Given the description of an element on the screen output the (x, y) to click on. 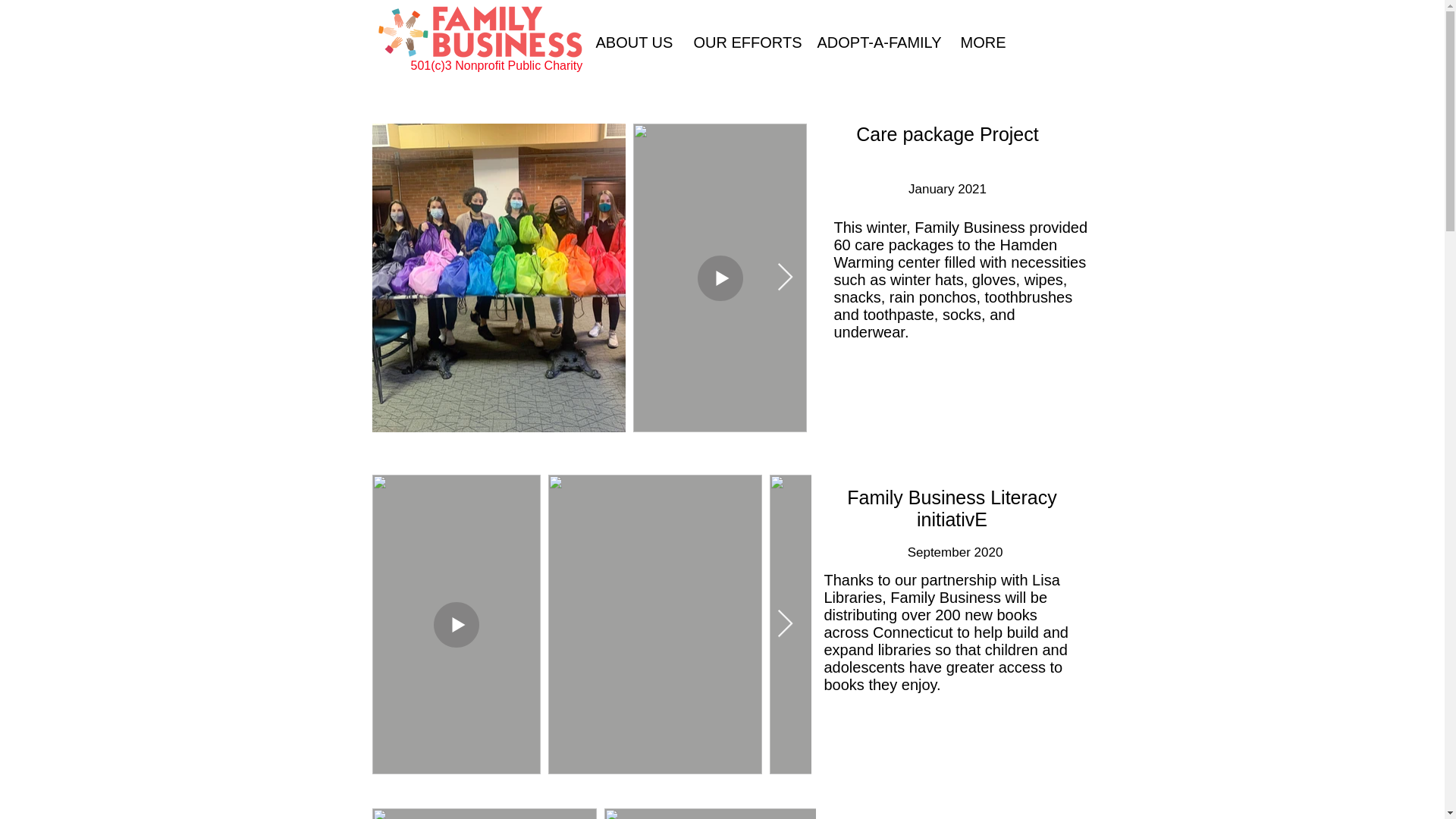
ADOPT-A-FAMILY (877, 42)
OUR EFFORTS (744, 42)
ABOUT US (632, 42)
